Given the description of an element on the screen output the (x, y) to click on. 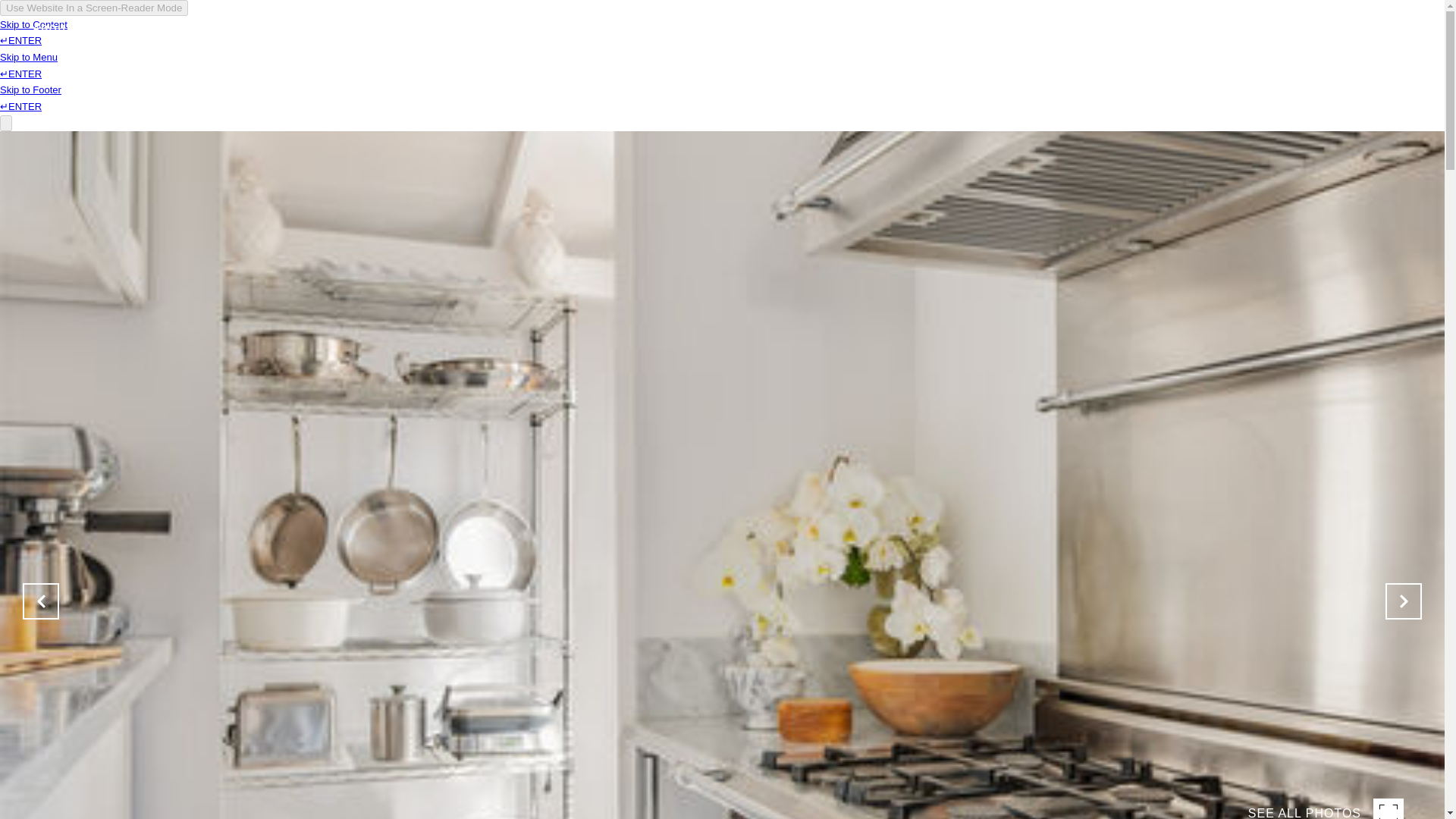
ABOUT (52, 65)
CONTACT (1250, 56)
310.734.4492 (1334, 54)
EXCLUSIVE PROPERTIES (164, 63)
